Given the description of an element on the screen output the (x, y) to click on. 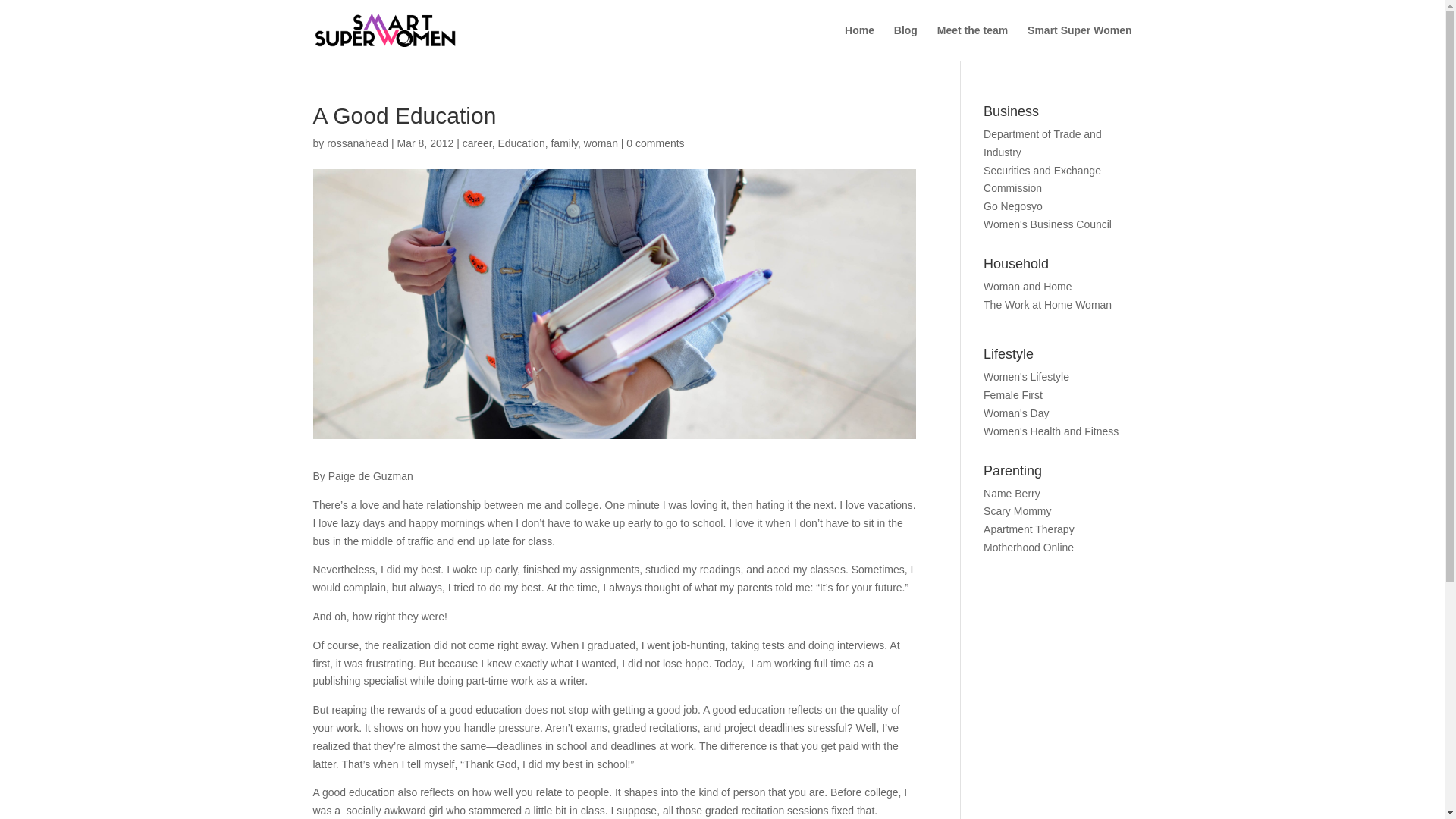
0 comments (655, 143)
career (477, 143)
family (564, 143)
woman (600, 143)
Posts by rossanahead (357, 143)
Women's Health and Fitness (1051, 431)
Meet the team (972, 42)
Securities and Exchange Commission (1042, 179)
Woman and Home (1027, 286)
Go Negosyo (1013, 205)
Name Berry (1012, 493)
Woman's Day (1016, 413)
Department of Trade and Industry (1043, 142)
Motherhood Online (1029, 547)
Female First (1013, 395)
